Given the description of an element on the screen output the (x, y) to click on. 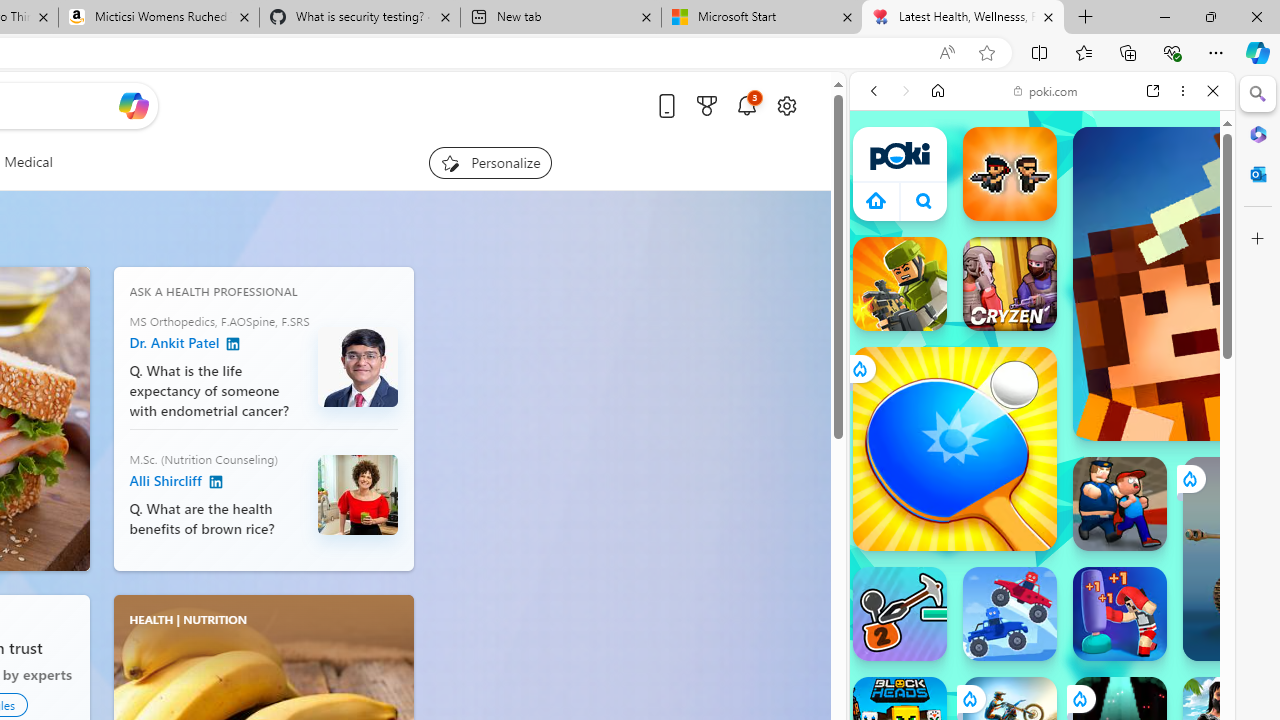
Escape From School (1119, 503)
Car Games (1042, 470)
Ping Pong Go! (954, 448)
Medical (28, 161)
Show More Io Games (1164, 619)
Class: aprWdaSScyiJf4Jvmsx9 (875, 200)
Cryzen.io Cryzen.io (1009, 283)
Alli Shircliff (215, 483)
Punch Legend Simulator (1119, 613)
